Given the description of an element on the screen output the (x, y) to click on. 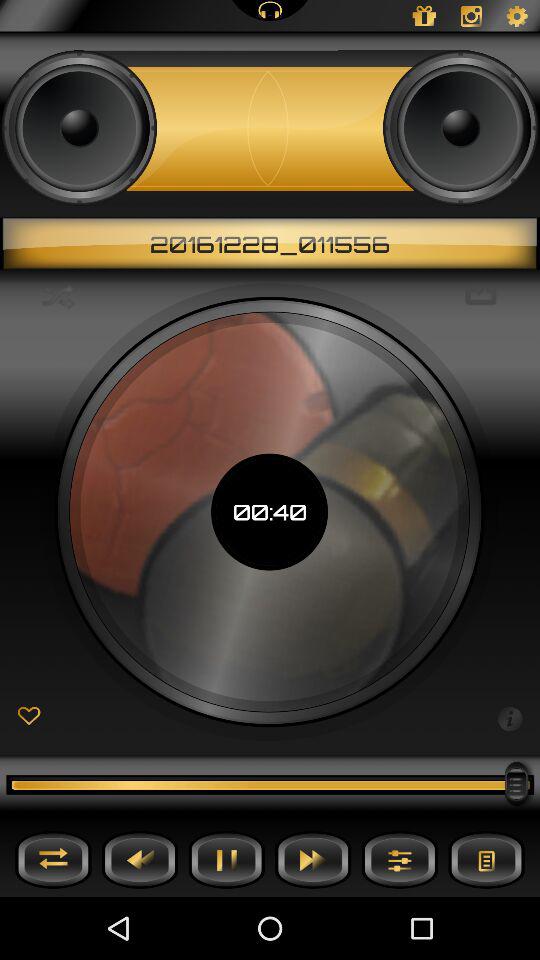
pause (226, 859)
